Given the description of an element on the screen output the (x, y) to click on. 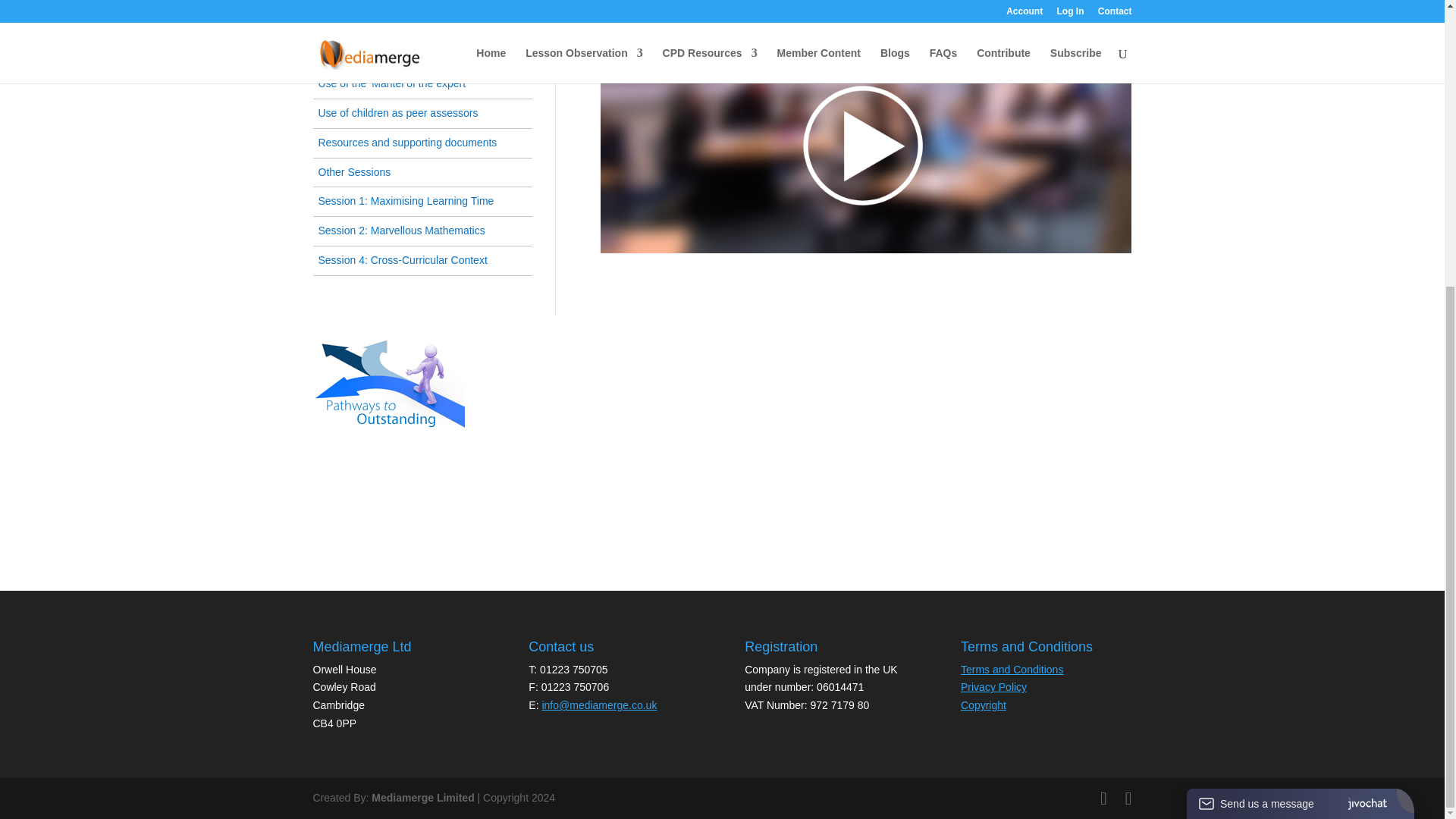
Thinking and planning outside the box (407, 24)
